Given the description of an element on the screen output the (x, y) to click on. 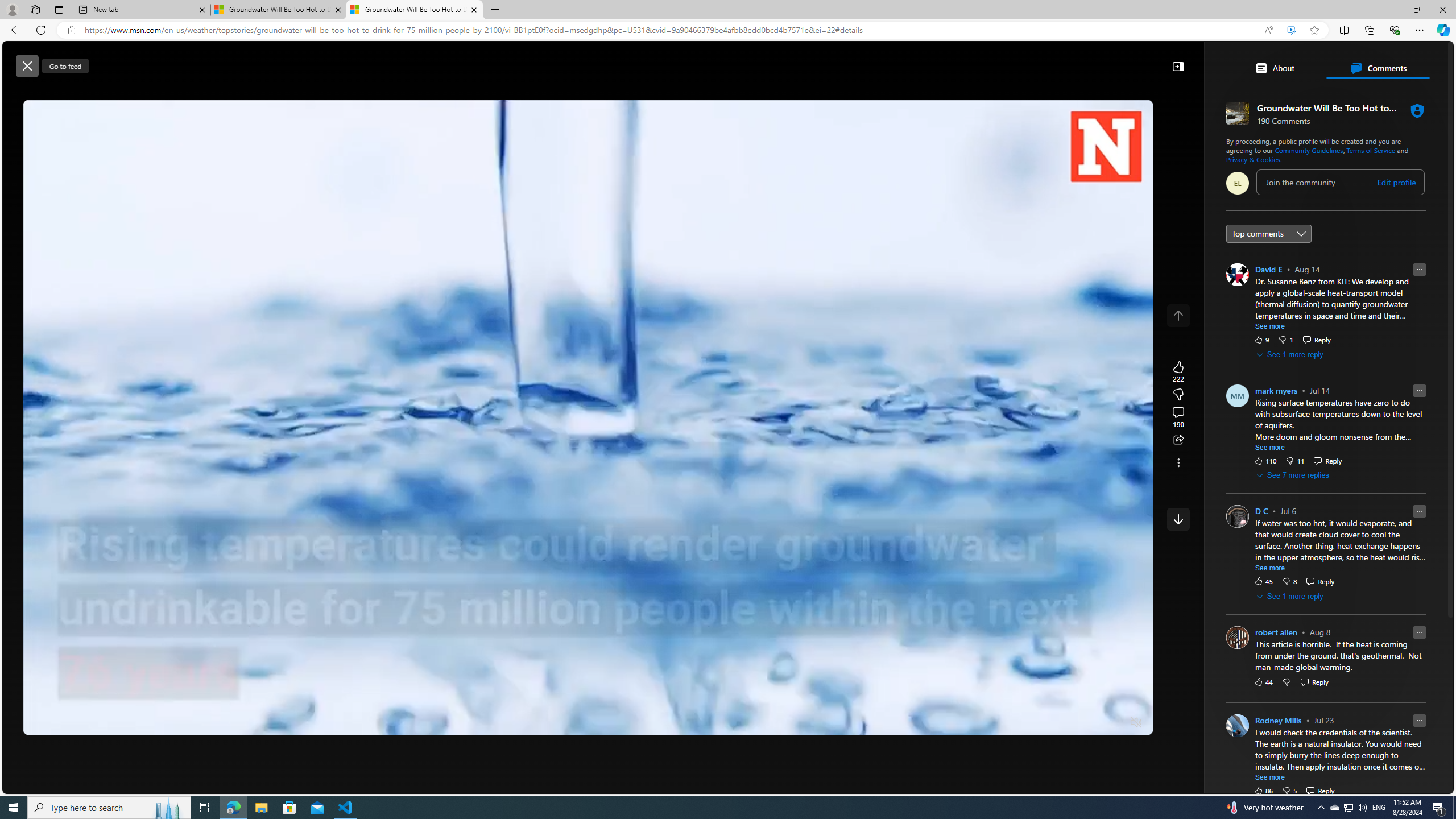
Seek Back (62, 723)
9 Like (1261, 339)
Class: button-glyph (292, 92)
See more (1178, 462)
Seek Forward (85, 723)
Discover (322, 92)
robert allen (1276, 632)
Rodney Mills (1278, 720)
